Given the description of an element on the screen output the (x, y) to click on. 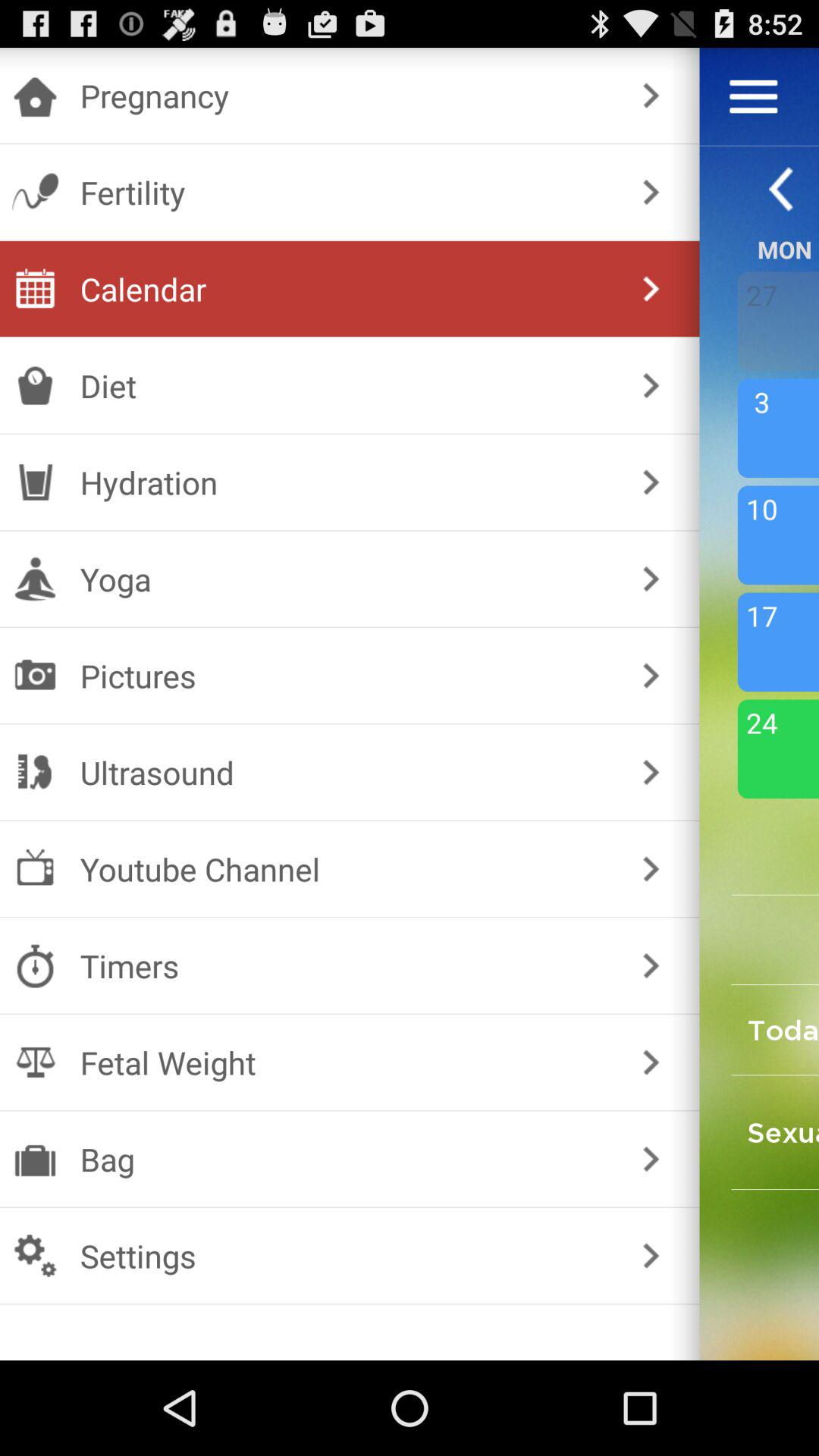
open menu (753, 96)
